Given the description of an element on the screen output the (x, y) to click on. 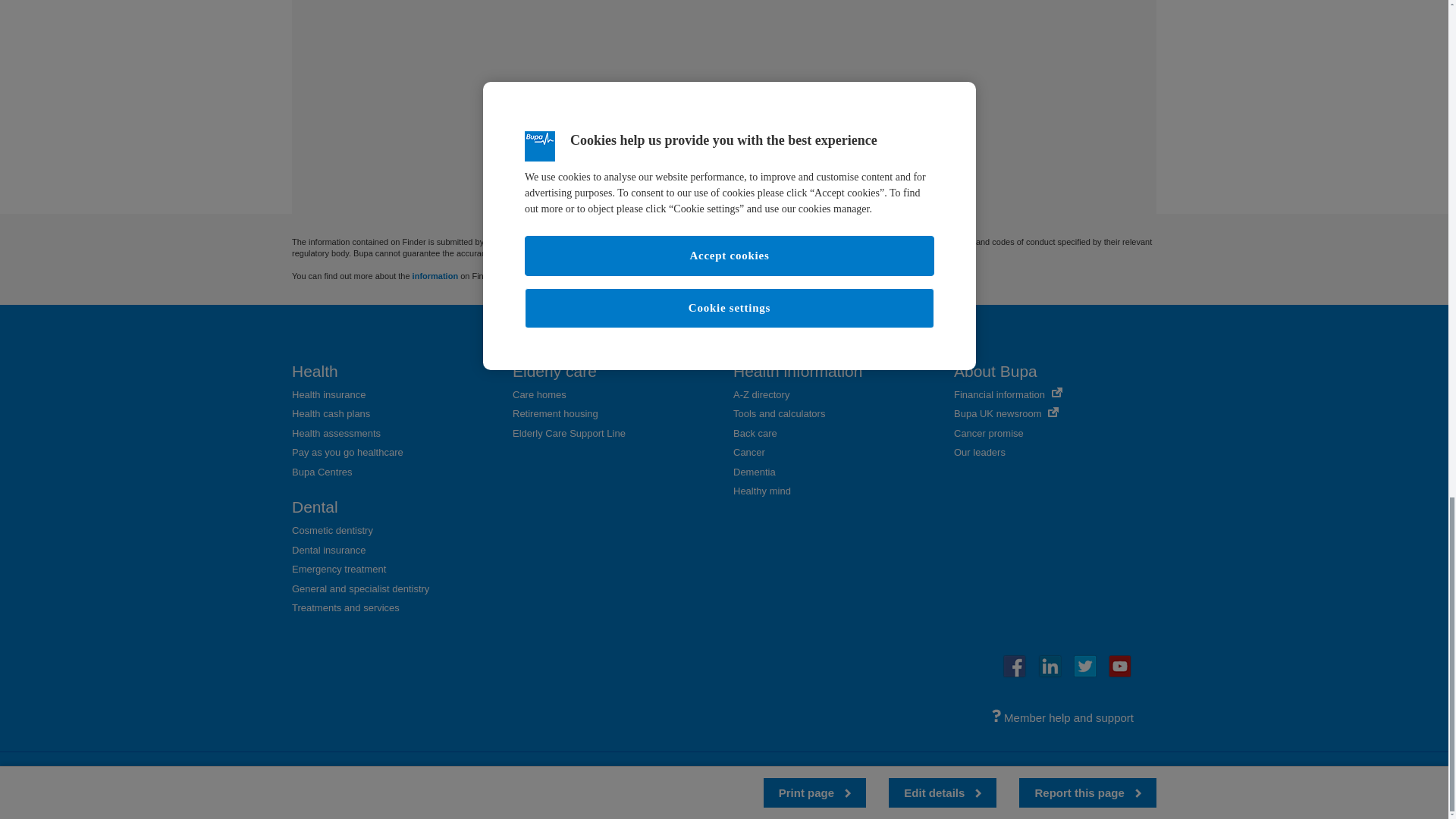
Health (314, 371)
Pay as you go healthcare (347, 451)
Dental (314, 506)
information (435, 275)
Health cash plans (330, 413)
Health insurance (329, 394)
Bupa Centres (322, 471)
Health assessments (336, 432)
